Given the description of an element on the screen output the (x, y) to click on. 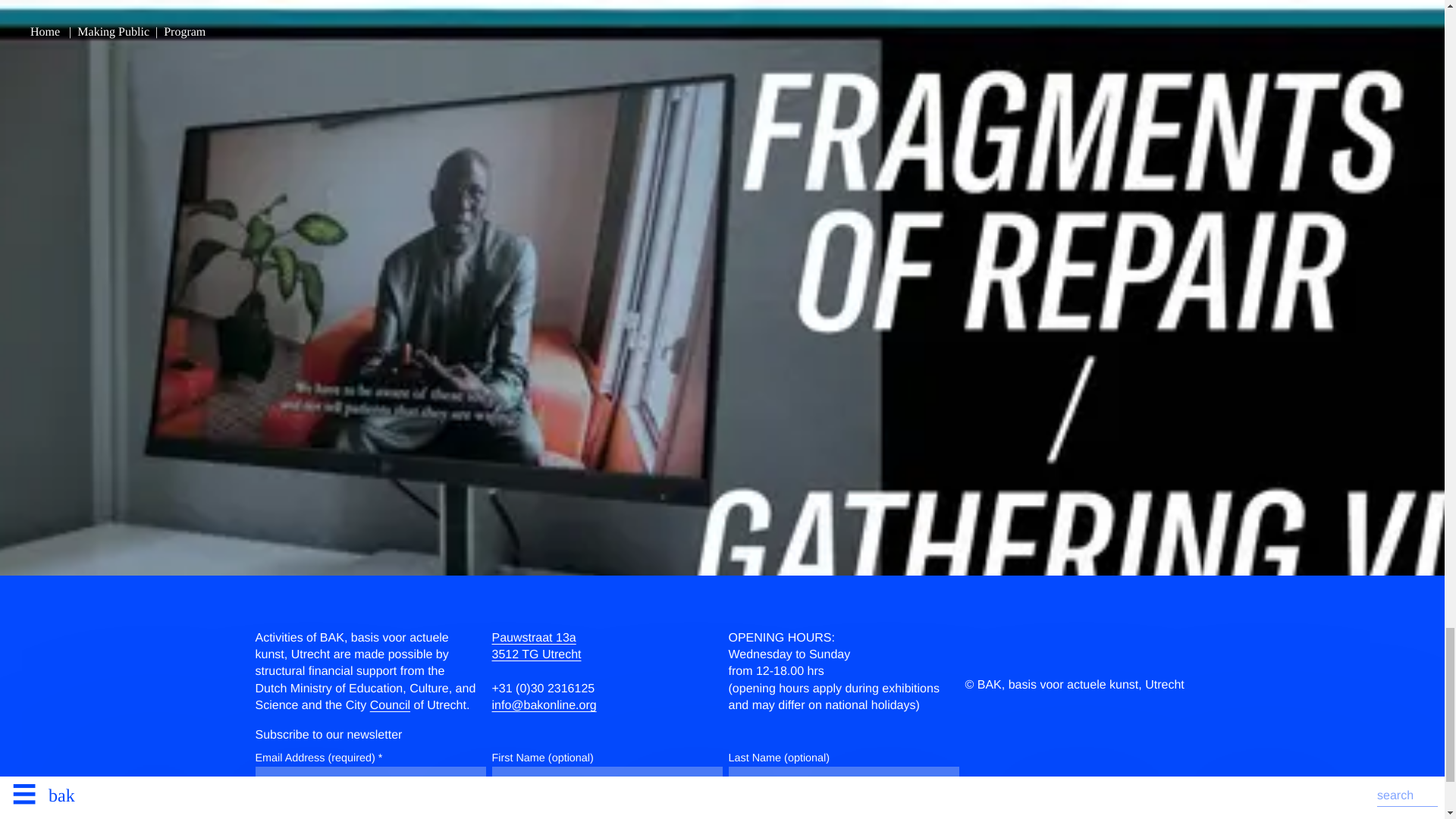
Subscribe (287, 815)
Subscribe (287, 815)
Council (536, 645)
